Given the description of an element on the screen output the (x, y) to click on. 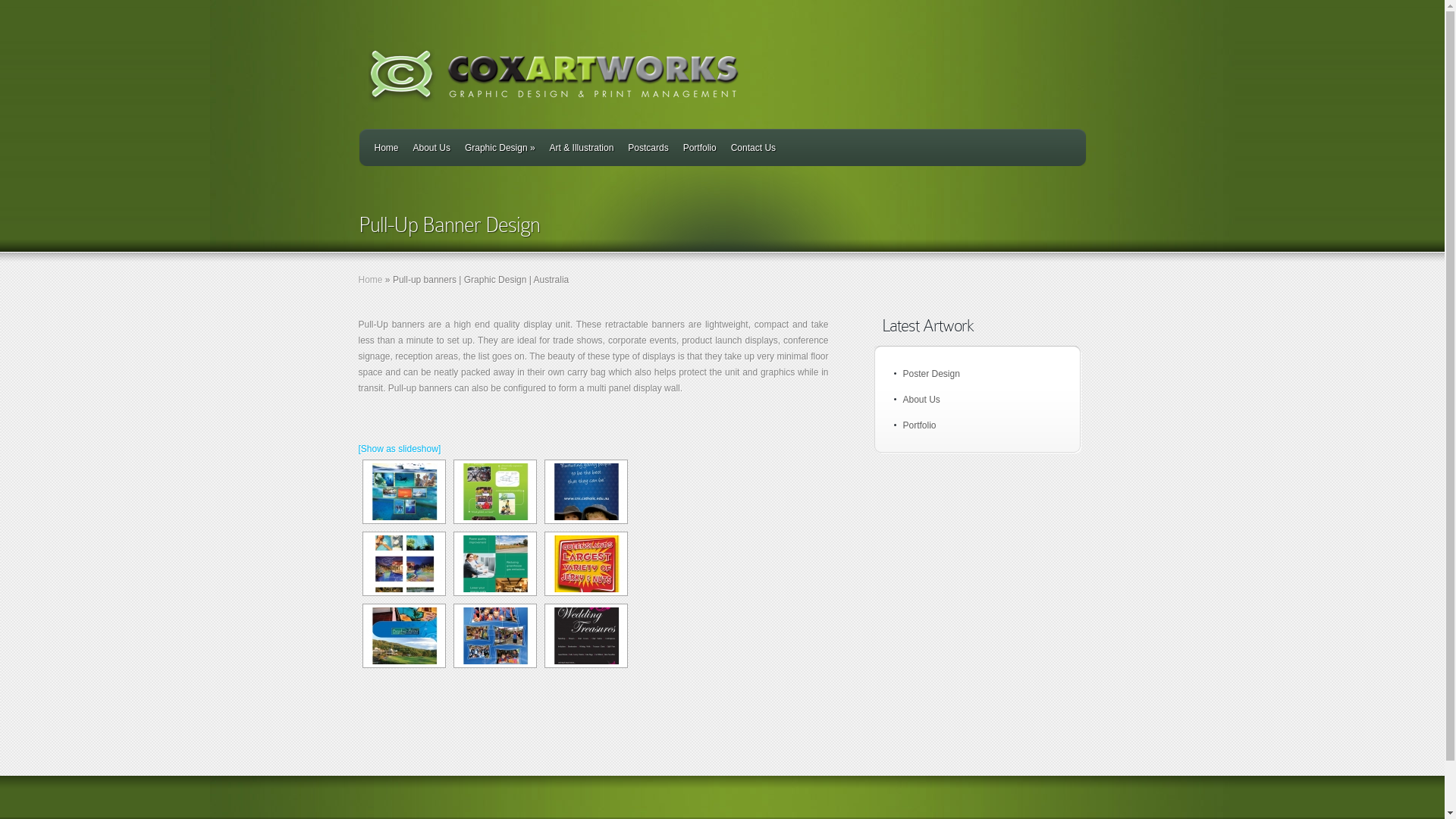
About Us Element type: text (431, 147)
Home Element type: text (369, 279)
Contact Us Element type: text (753, 147)
EcosplashBannerstand1 Element type: hover (403, 563)
Postcards Element type: text (647, 147)
Art & Illustration Element type: text (581, 147)
ErgonBannerstand Element type: hover (494, 563)
CDCBannerstand Element type: hover (403, 491)
CathEdBannerstand Element type: hover (585, 491)
About Us Element type: text (920, 399)
WeddingtreasuresBannerstand Element type: hover (585, 635)
Home Element type: text (386, 147)
Jerky&nutBannerstand Element type: hover (585, 563)
STThomasBannerstand Element type: hover (494, 635)
Portfolio Element type: text (699, 147)
[Show as slideshow] Element type: text (398, 448)
CRCBannerstand Element type: hover (494, 491)
LakesBannerstand Element type: hover (403, 635)
Poster Design Element type: text (930, 373)
Portfolio Element type: text (918, 425)
